Given the description of an element on the screen output the (x, y) to click on. 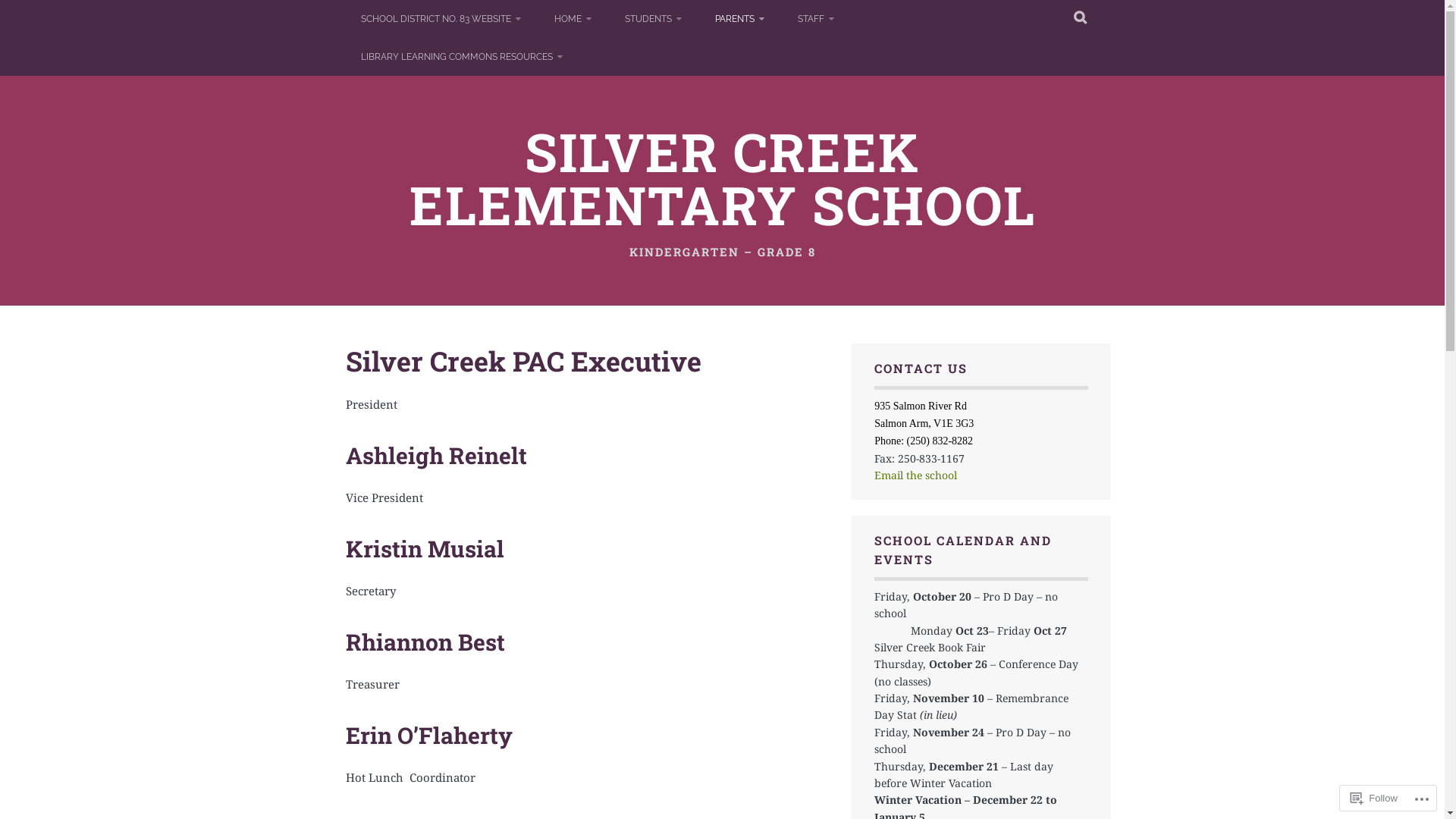
HOME Element type: text (571, 18)
STAFF Element type: text (815, 18)
STUDENTS Element type: text (652, 18)
Email the school Element type: text (915, 474)
SILVER CREEK ELEMENTARY SCHOOL Element type: text (722, 177)
PARENTS Element type: text (738, 18)
SCHOOL DISTRICT NO. 83 WEBSITE Element type: text (440, 18)
LIBRARY LEARNING COMMONS RESOURCES Element type: text (461, 56)
Follow Element type: text (1373, 797)
